Given the description of an element on the screen output the (x, y) to click on. 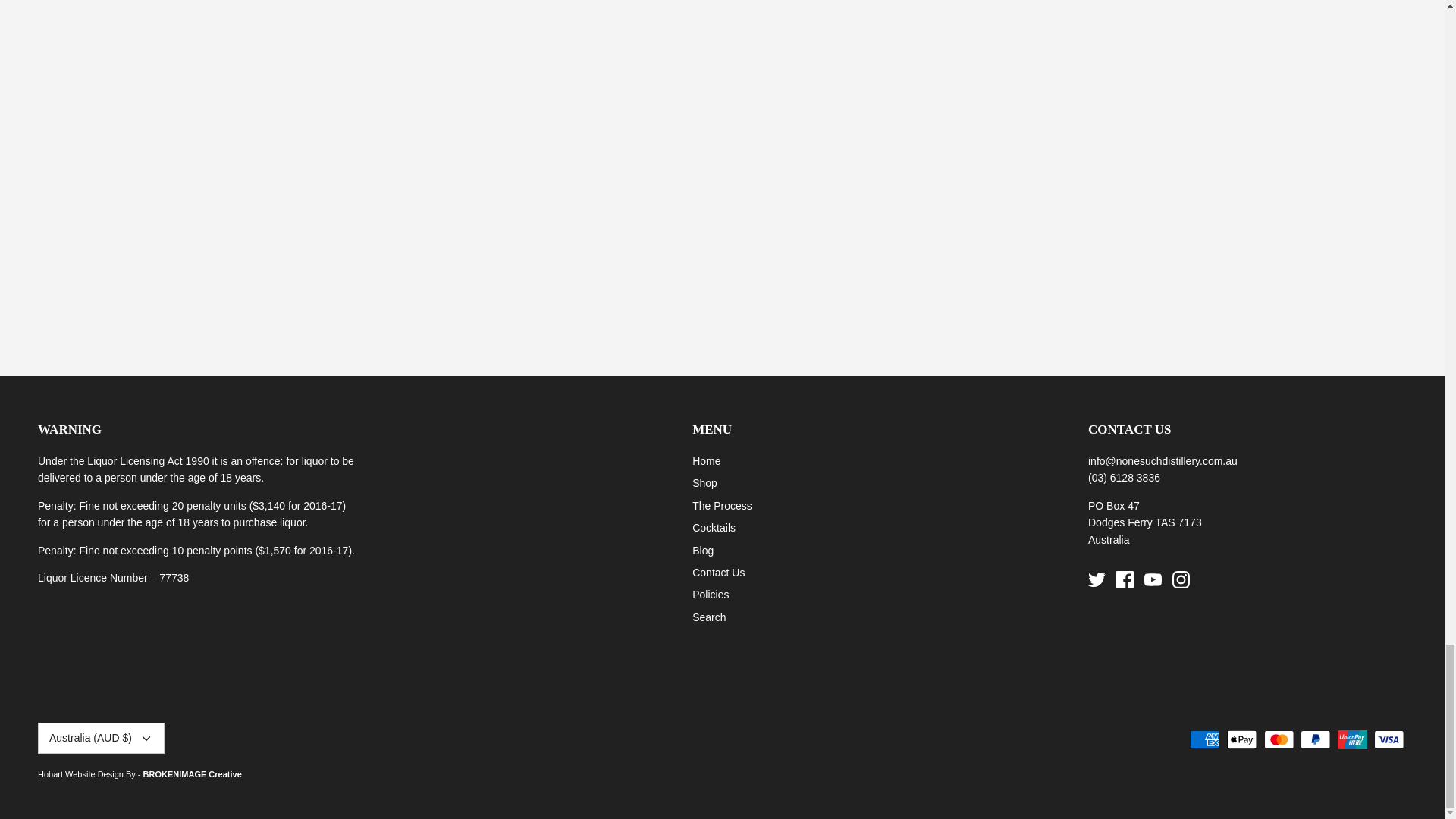
Mastercard (1277, 739)
PayPal (1315, 739)
American Express (1204, 739)
Union Pay (1352, 739)
Apple Pay (1241, 739)
Twitter (1096, 579)
Instagram (1180, 579)
Facebook (1125, 579)
Youtube (1152, 579)
Down (145, 738)
Visa (1388, 739)
